Given the description of an element on the screen output the (x, y) to click on. 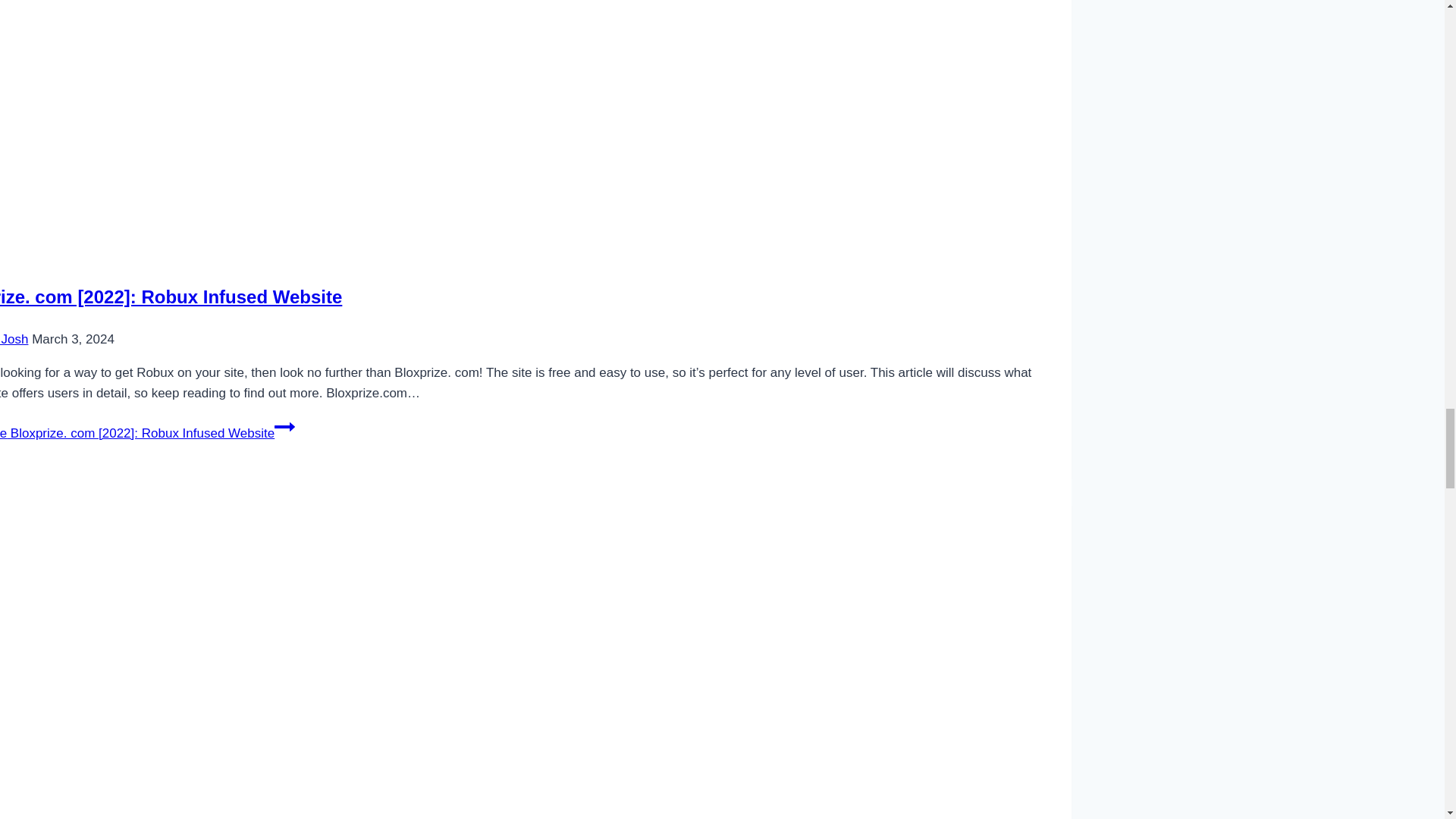
Continue (285, 426)
